Given the description of an element on the screen output the (x, y) to click on. 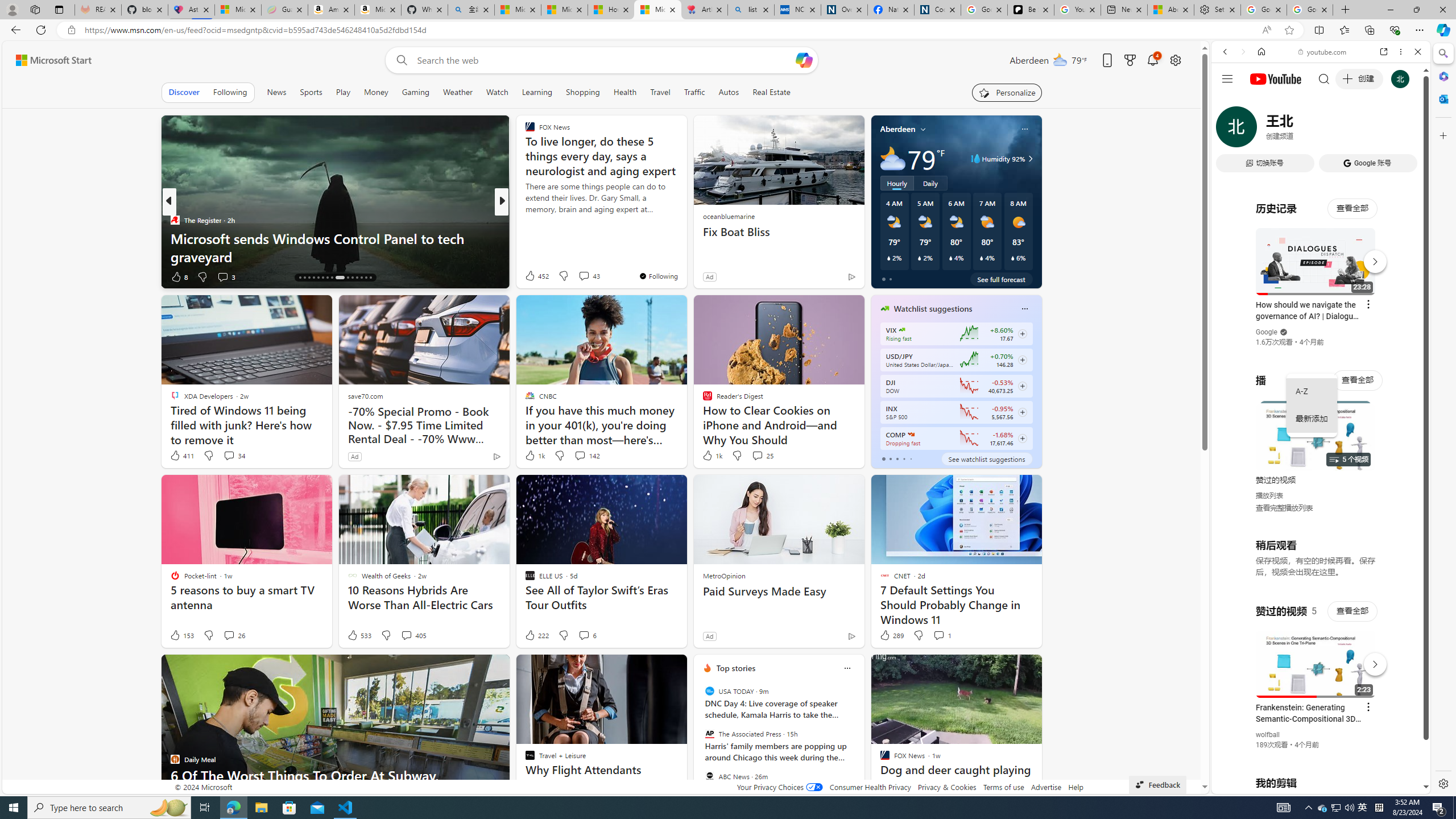
YouTube - YouTube (1315, 560)
View comments 26 Comment (233, 634)
INSIDER (524, 219)
